Given the description of an element on the screen output the (x, y) to click on. 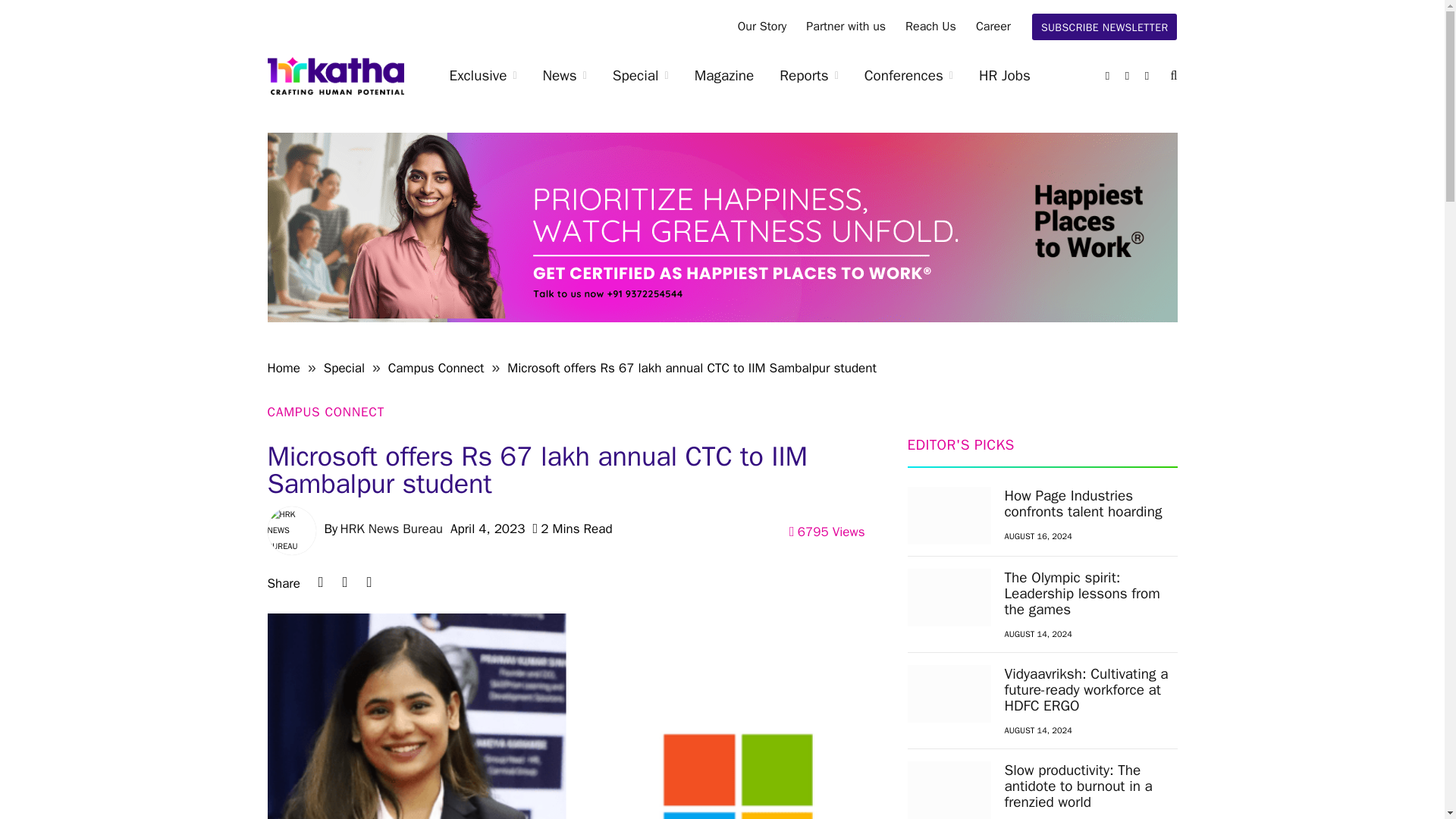
Share on Facebook (369, 582)
Posts by HRK News Bureau (390, 528)
Special (640, 75)
Reach Us (930, 26)
SUBSCRIBE NEWSLETTER (1104, 26)
Our Story (762, 26)
Partner with us (845, 26)
News (564, 75)
Share on LinkedIn (319, 582)
